Given the description of an element on the screen output the (x, y) to click on. 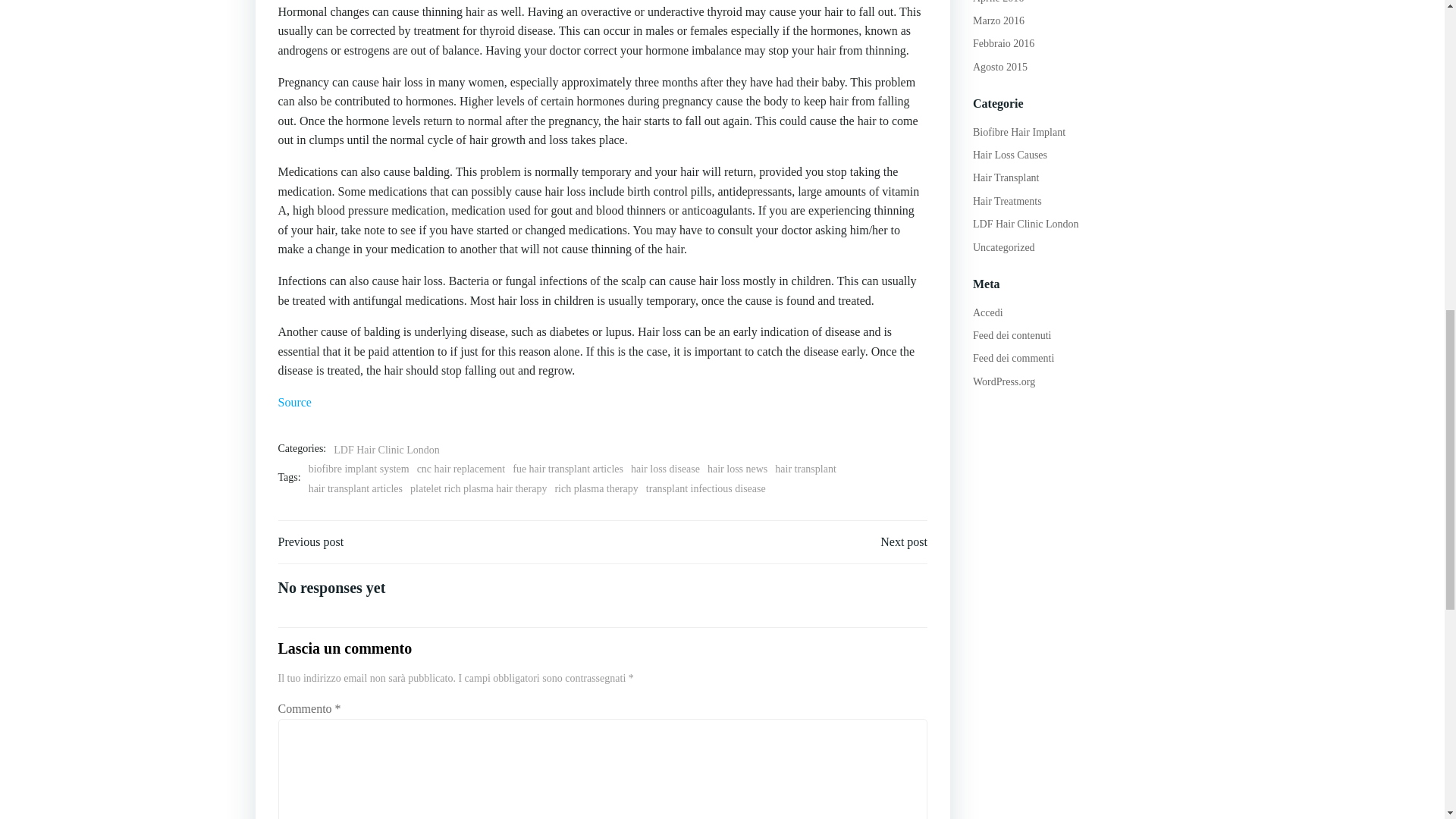
fue hair transplant articles Tag (567, 469)
hair loss news Tag (737, 469)
platelet rich plasma hair therapy (478, 488)
hair transplant articles (355, 488)
LDF Hair Clinic London (386, 449)
transplant infectious disease Tag (705, 488)
Source (294, 401)
hair transplant (804, 469)
hair transplant Tag (804, 469)
hair transplant articles Tag (355, 488)
